Given the description of an element on the screen output the (x, y) to click on. 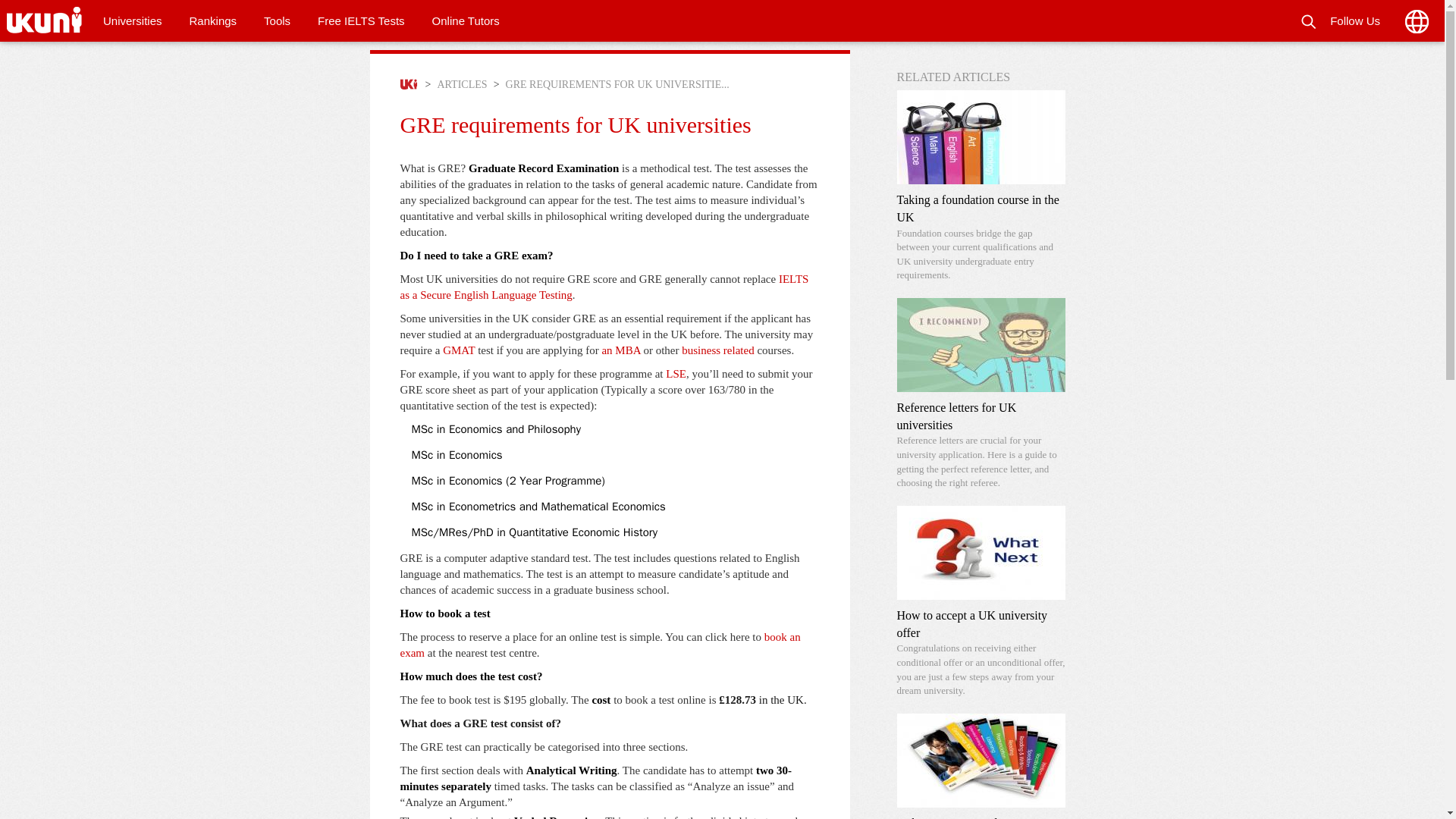
an MBA (620, 349)
GMAT (458, 349)
Online Tutors (466, 20)
LSE (675, 373)
Tools (277, 20)
Universities (132, 20)
IELTS as a Secure English Language Testing (604, 286)
book an exam (600, 644)
GRE REQUIREMENTS FOR UK UNIVERSITIE... (617, 84)
ARTICLES (462, 84)
Free IELTS Tests (361, 20)
Rankings (213, 20)
Home (45, 20)
business related (717, 349)
